Given the description of an element on the screen output the (x, y) to click on. 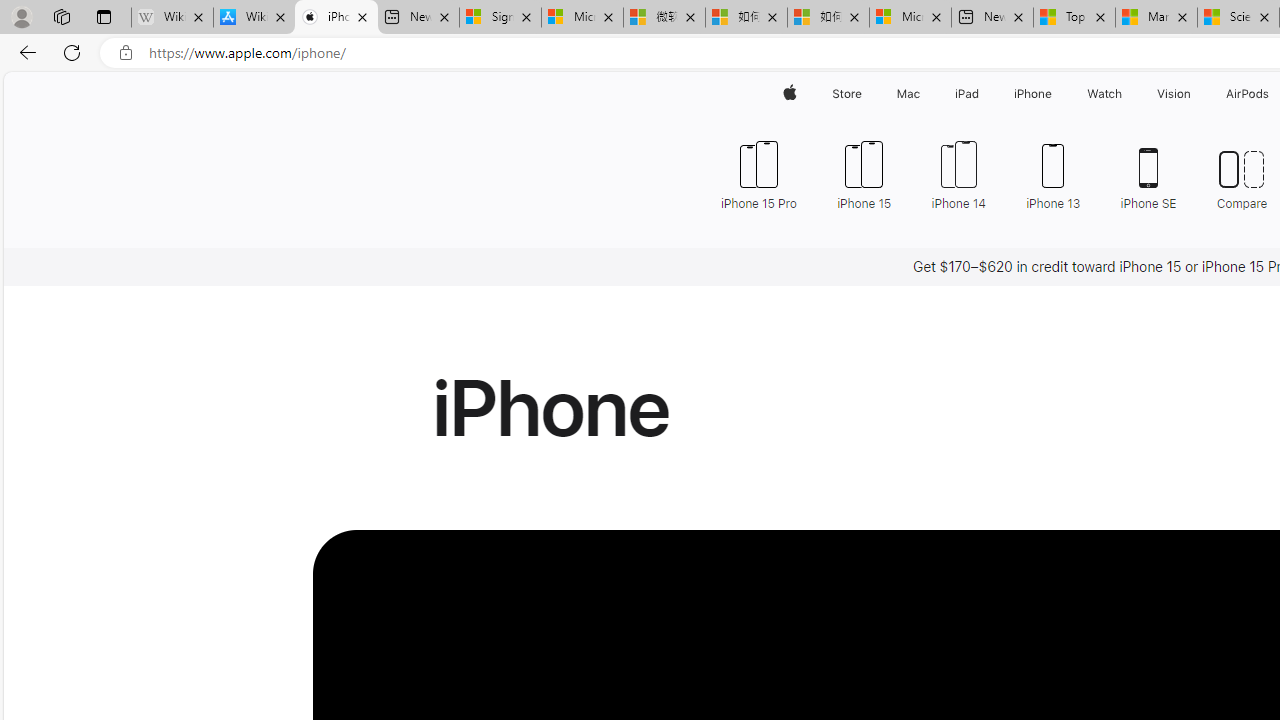
Mac menu (922, 93)
iPad (965, 93)
Marine life - MSN (1156, 17)
iPad menu (982, 93)
iPad (965, 93)
iPhone 13 (1053, 173)
Store (846, 93)
Vision (1174, 93)
Watch menu (1125, 93)
iPhone 15 (864, 173)
Vision menu (1195, 93)
